Given the description of an element on the screen output the (x, y) to click on. 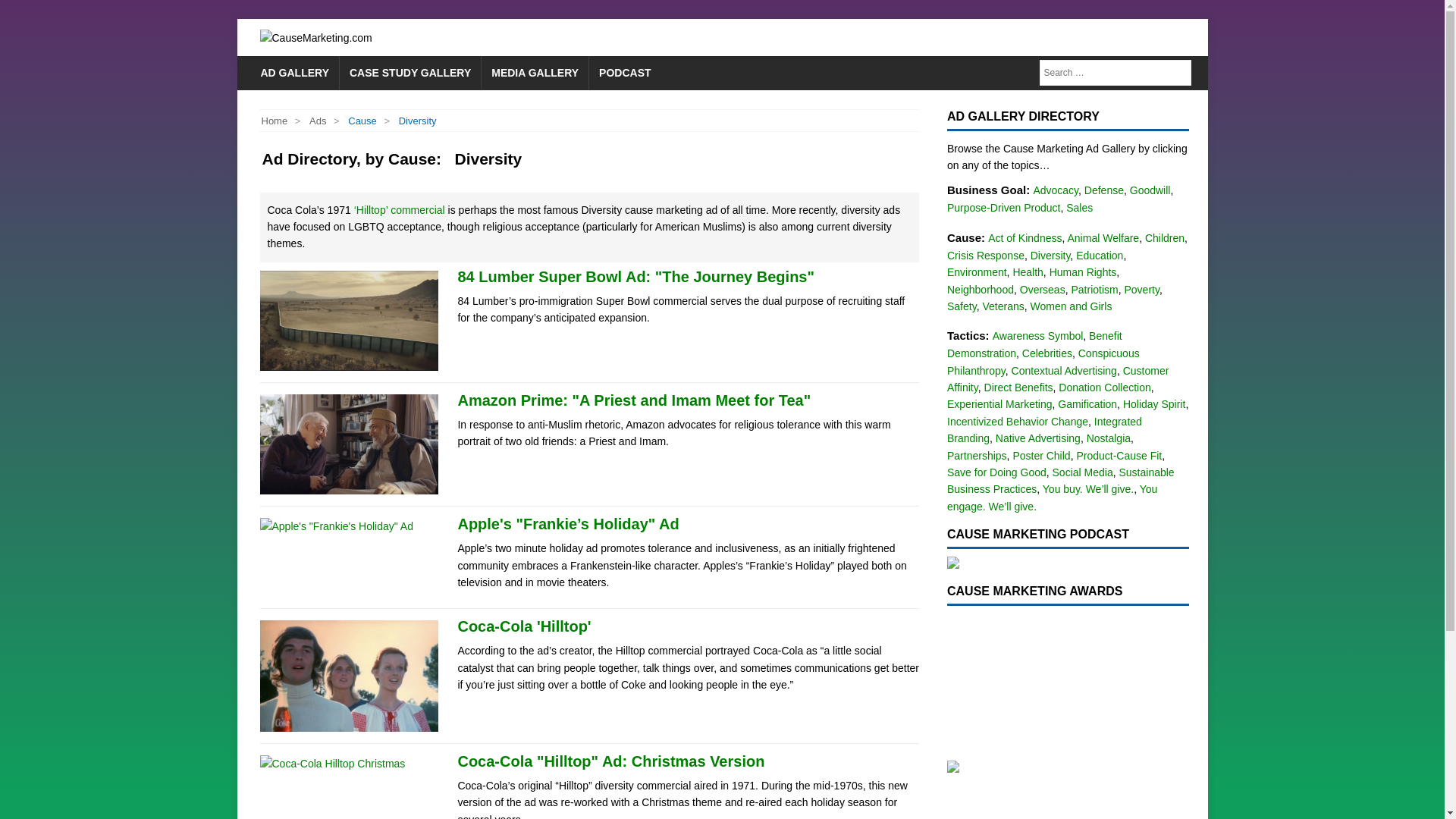
CASE STUDY GALLERY (409, 72)
Search (1178, 72)
Ads (317, 120)
Go to CauseMarketing.com. (273, 120)
Coca-Cola 'Hilltop' (524, 626)
Search (1178, 72)
84 Lumber Super Bowl Ad: "The Journey Begins" (635, 276)
MEDIA GALLERY (534, 72)
The Meaningful Impact Awards -- Overview (1068, 680)
CauseMarketing.com (429, 37)
Go to Ads. (317, 120)
Amazon Prime: "A Priest and Imam Meet for Tea" (633, 400)
AD GALLERY (293, 72)
Search (1178, 72)
Home (273, 120)
